Given the description of an element on the screen output the (x, y) to click on. 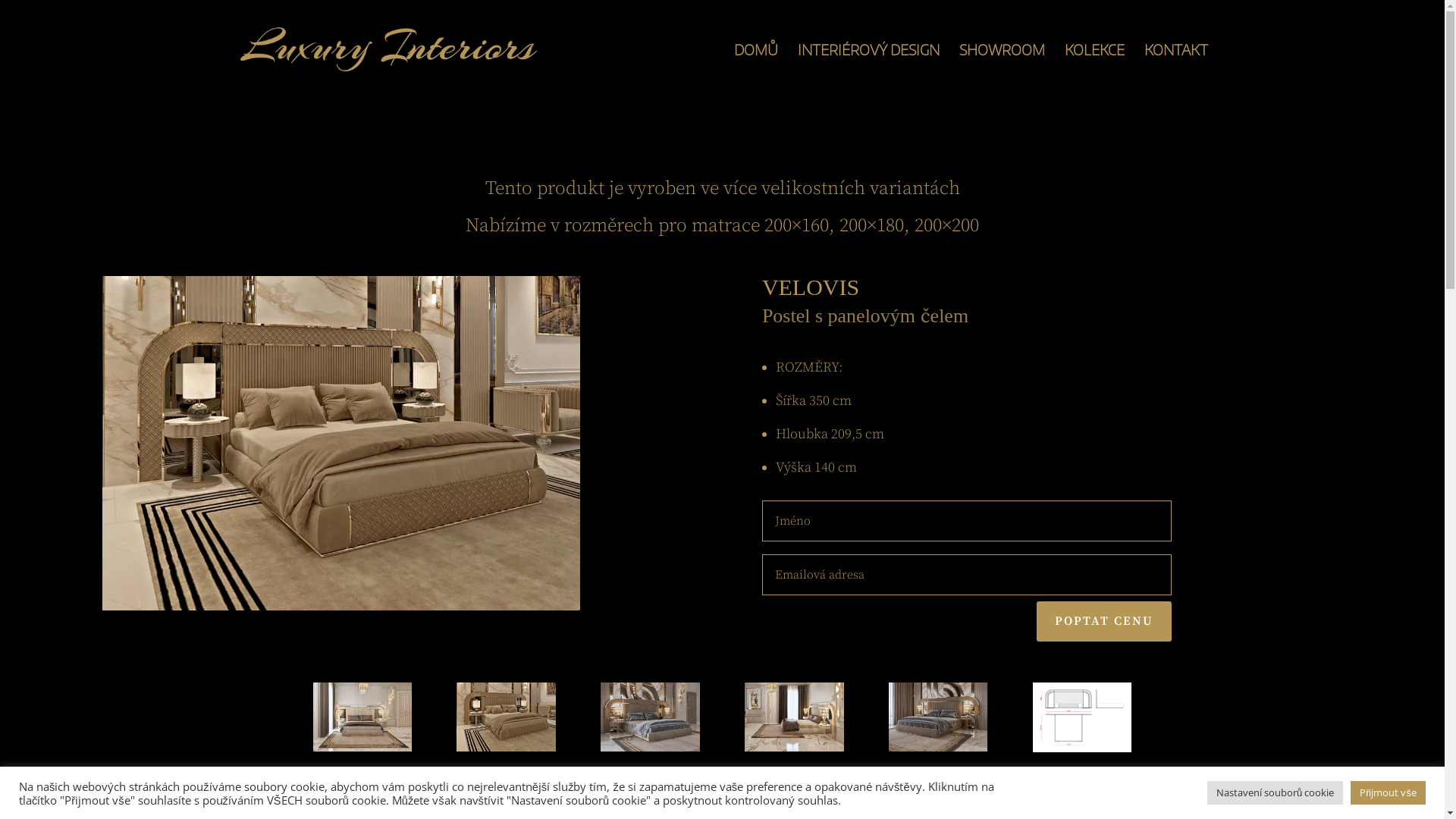
KONTAKT Element type: text (1175, 70)
KOLEKCE Element type: text (1094, 70)
POPTAT CENU Element type: text (1103, 621)
SHOWROOM Element type: text (1001, 70)
